Given the description of an element on the screen output the (x, y) to click on. 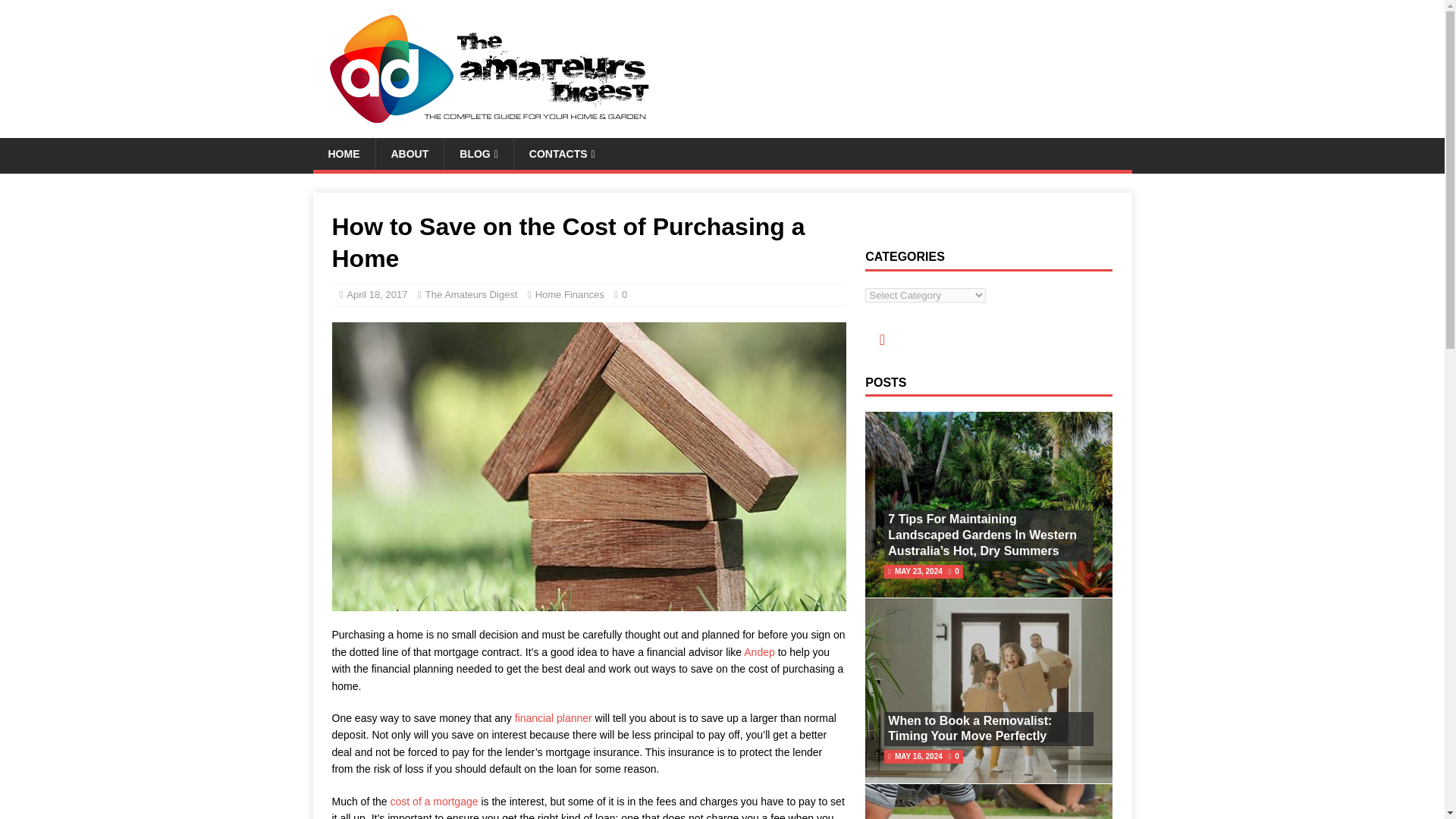
Home Finances (569, 294)
BLOG (478, 153)
When to Book a Removalist: Timing Your Move Perfectly (969, 728)
The Amateurs Digest (470, 294)
HOME (343, 153)
ABOUT (409, 153)
Facebook (881, 337)
CONTACTS (561, 153)
April 18, 2017 (376, 294)
